Given the description of an element on the screen output the (x, y) to click on. 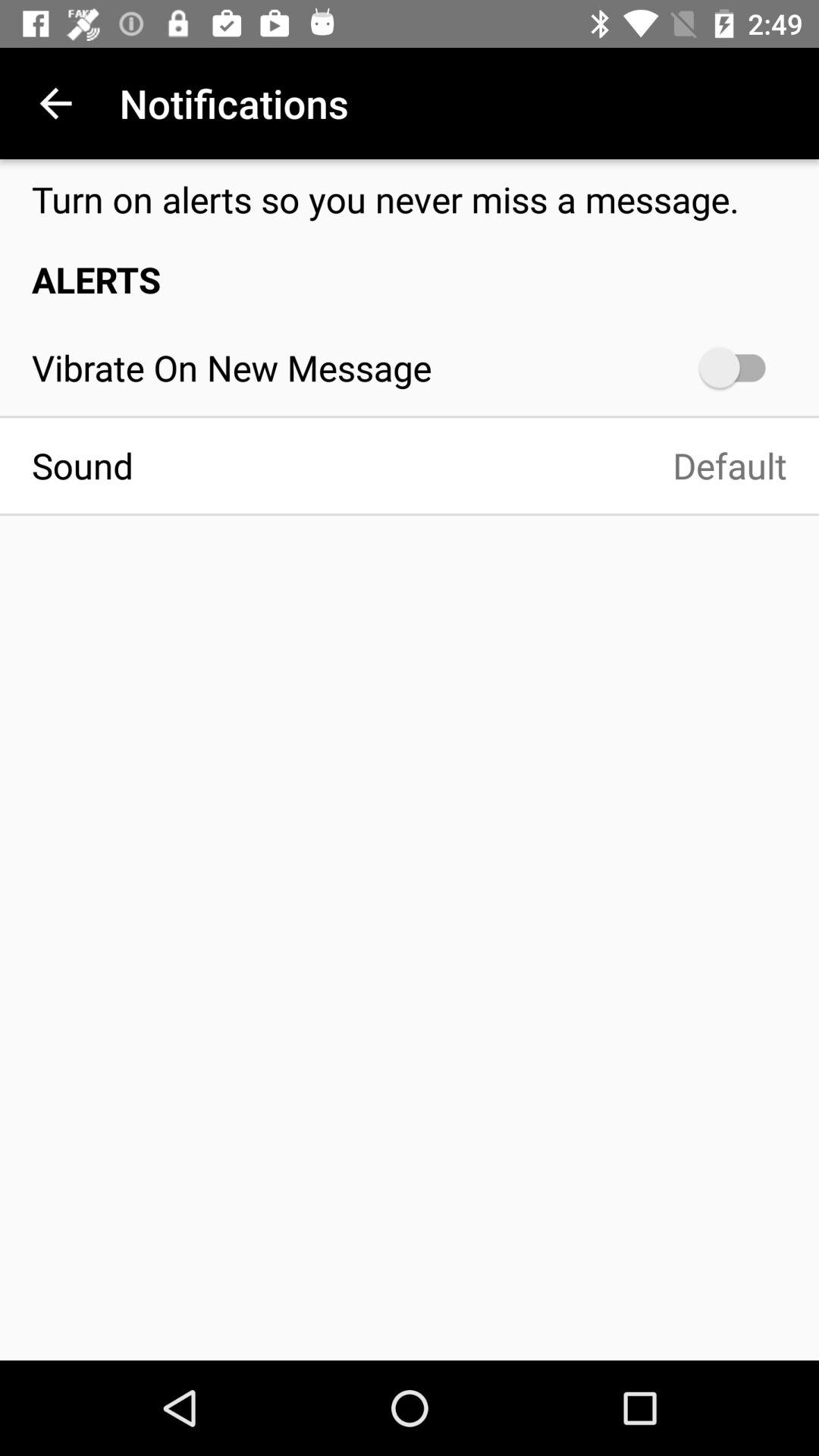
turn off the icon to the right of vibrate on new item (739, 367)
